Given the description of an element on the screen output the (x, y) to click on. 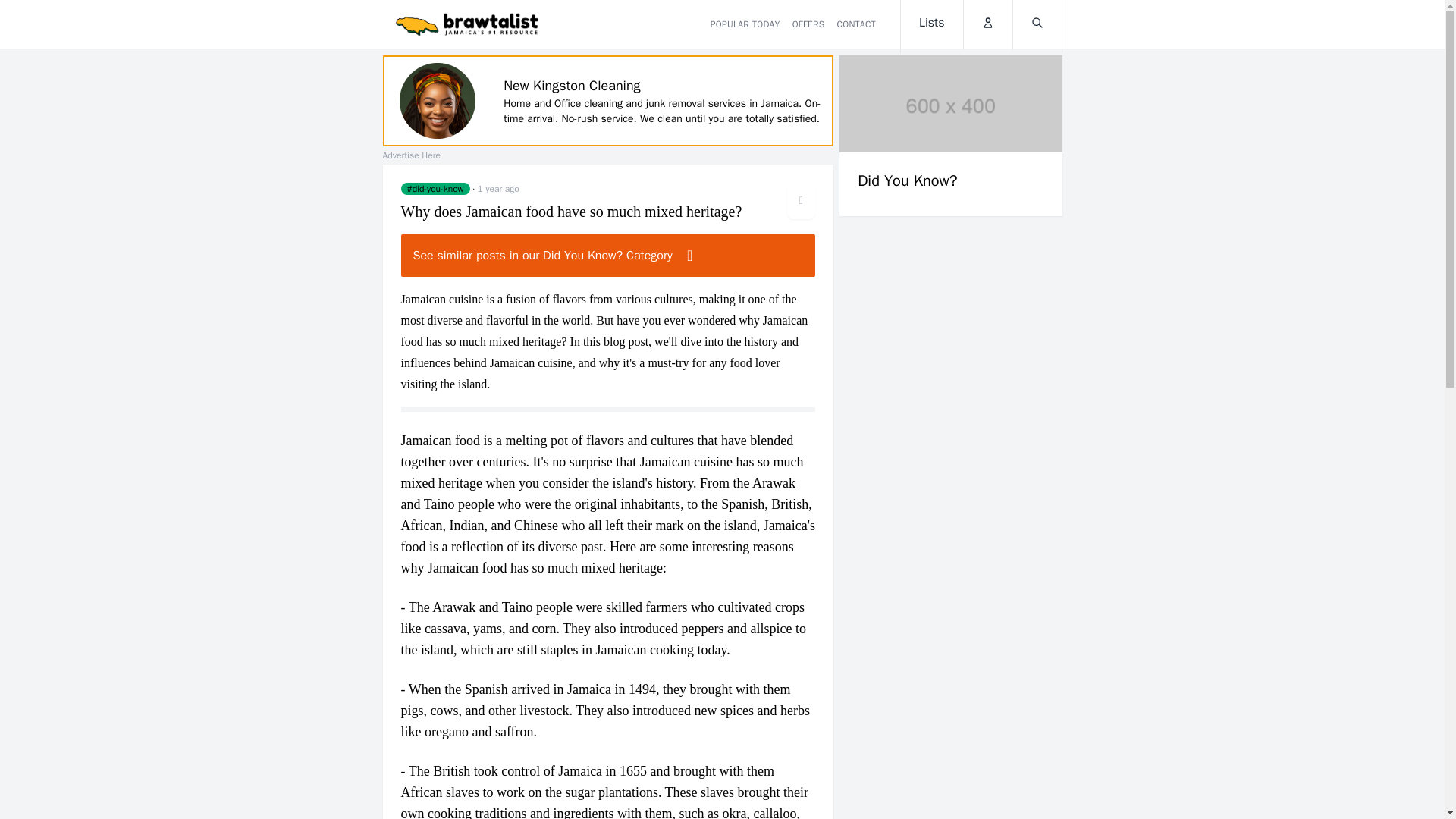
POPULAR TODAY (745, 24)
Lists (931, 26)
Account (986, 24)
Search (1037, 24)
Did You Know? (950, 135)
Go to Did You Know? (434, 188)
Go to Did You Know? (950, 135)
Advertise Here (410, 155)
See similar posts in our Did You Know? Category     (607, 255)
